Given the description of an element on the screen output the (x, y) to click on. 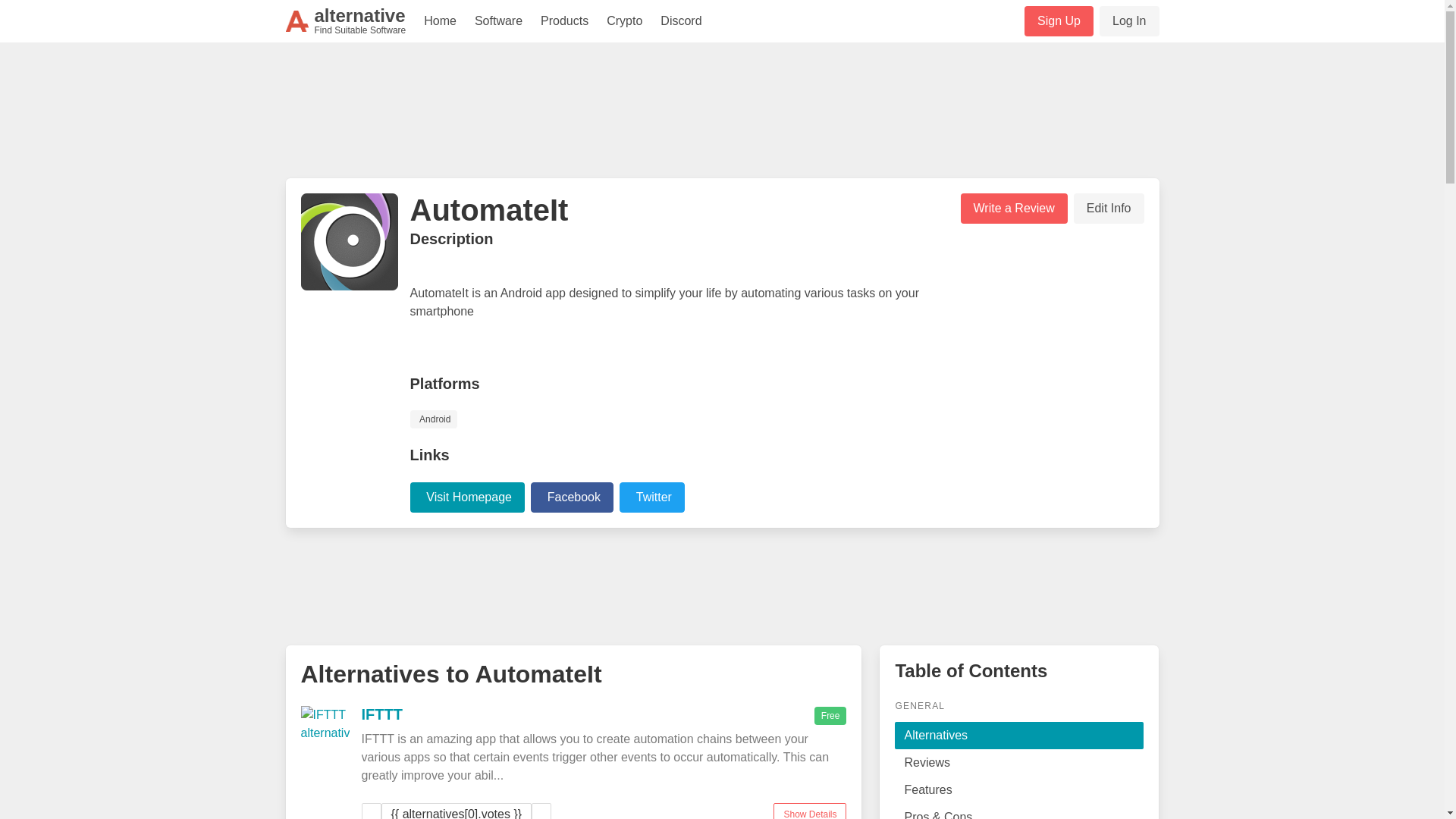
Alternatives (1018, 735)
Facebook (571, 497)
Sign Up (1059, 20)
Write a Review (1013, 208)
Visit Homepage (469, 495)
IFTTT (381, 713)
Home (439, 21)
Log In (1128, 20)
Visit Homepage (466, 497)
Crypto (623, 21)
